Given the description of an element on the screen output the (x, y) to click on. 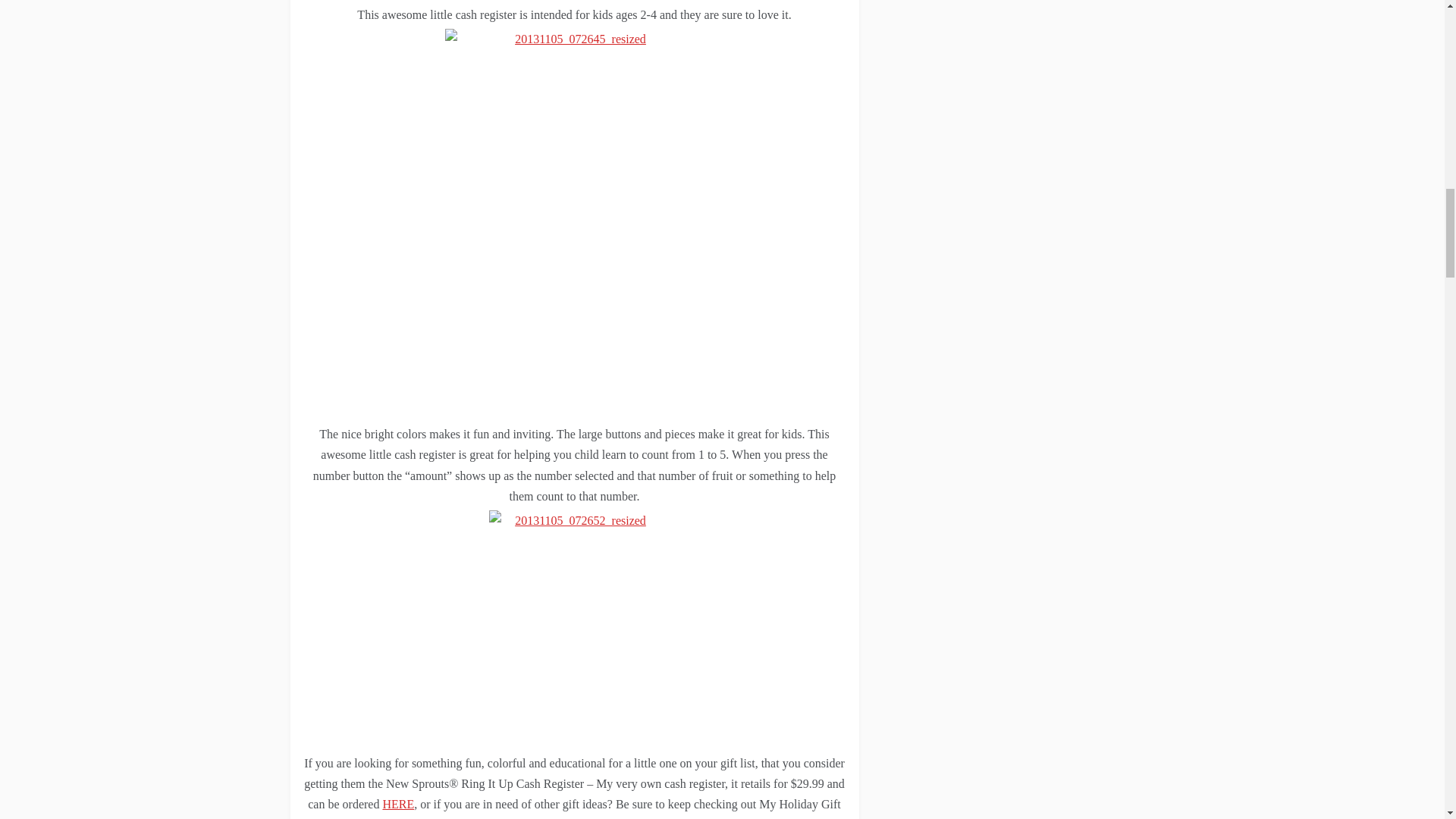
HERE (397, 803)
